Given the description of an element on the screen output the (x, y) to click on. 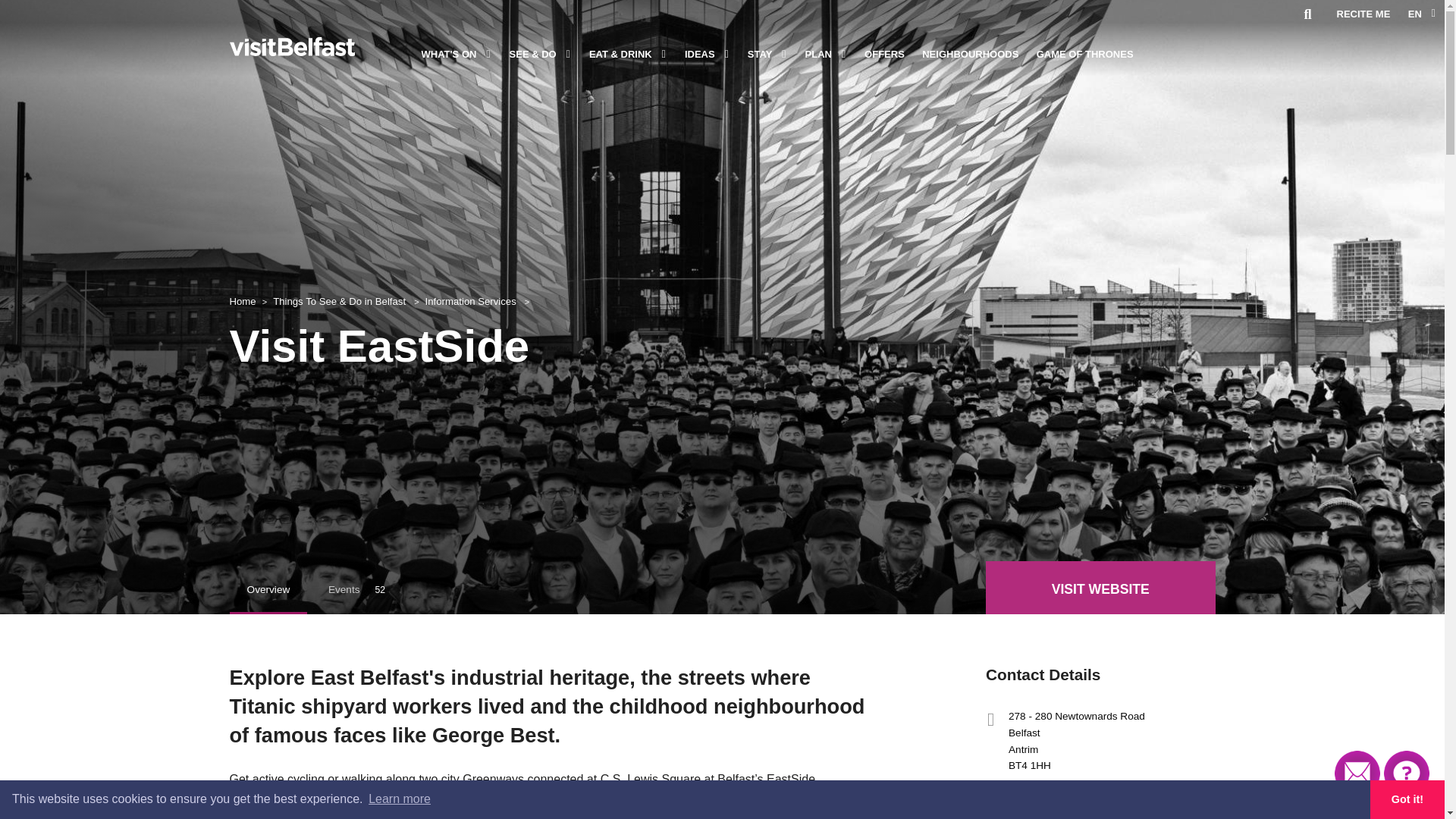
Learn more (399, 798)
WHAT'S ON (451, 53)
Open the Recite Me Accessibility Toolbar (1361, 16)
